Given the description of an element on the screen output the (x, y) to click on. 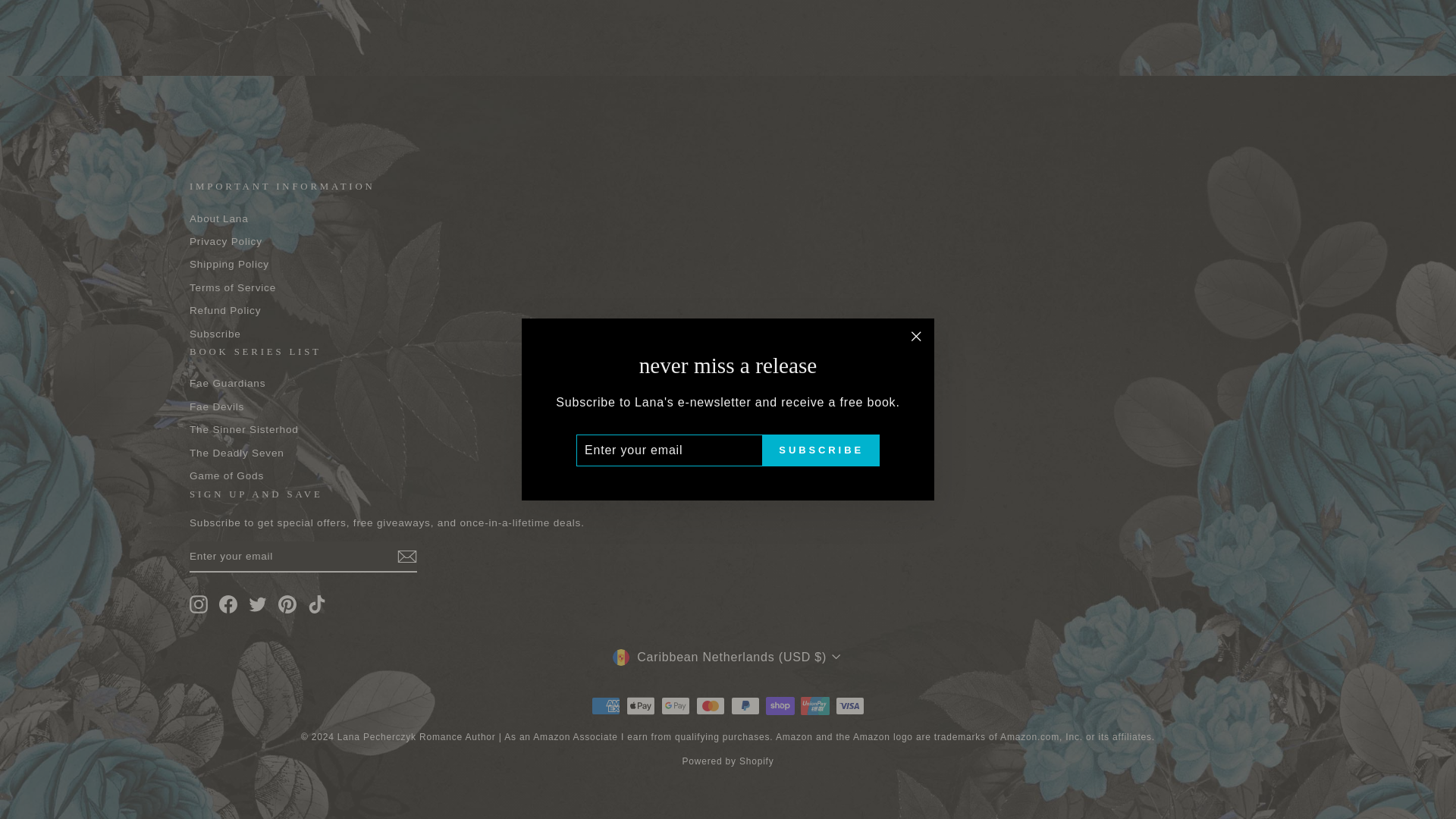
Apple Pay (640, 705)
Lana Pecherczyk Romance Author on Instagram (198, 604)
Visa (849, 705)
twitter (257, 604)
Shop Pay (779, 705)
icon-email (406, 556)
Union Pay (814, 705)
Google Pay (675, 705)
American Express (605, 705)
PayPal (745, 705)
Lana Pecherczyk Romance Author on Twitter (257, 604)
Mastercard (710, 705)
instagram (198, 604)
